Given the description of an element on the screen output the (x, y) to click on. 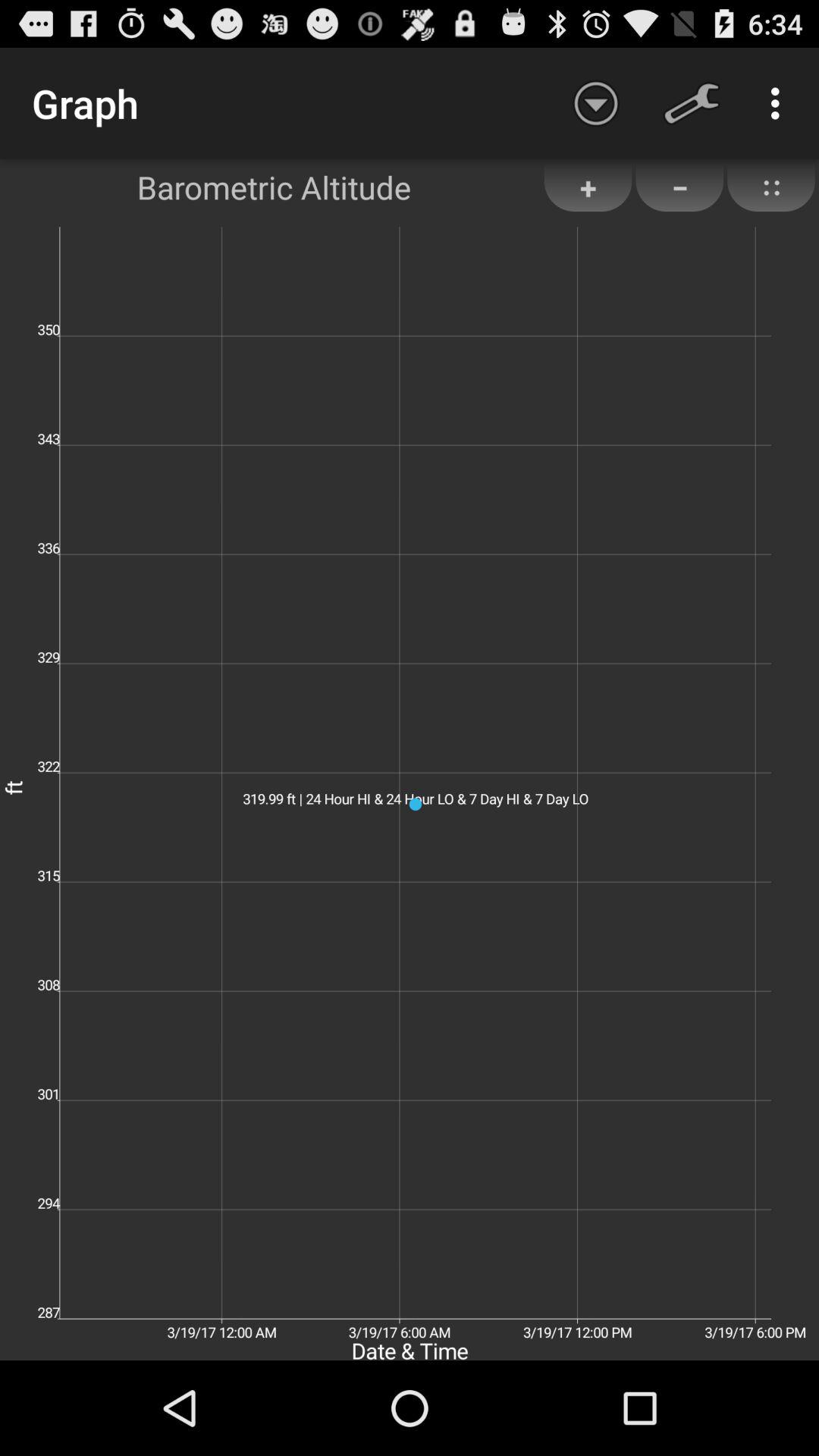
turn on the item to the right of + (679, 187)
